Given the description of an element on the screen output the (x, y) to click on. 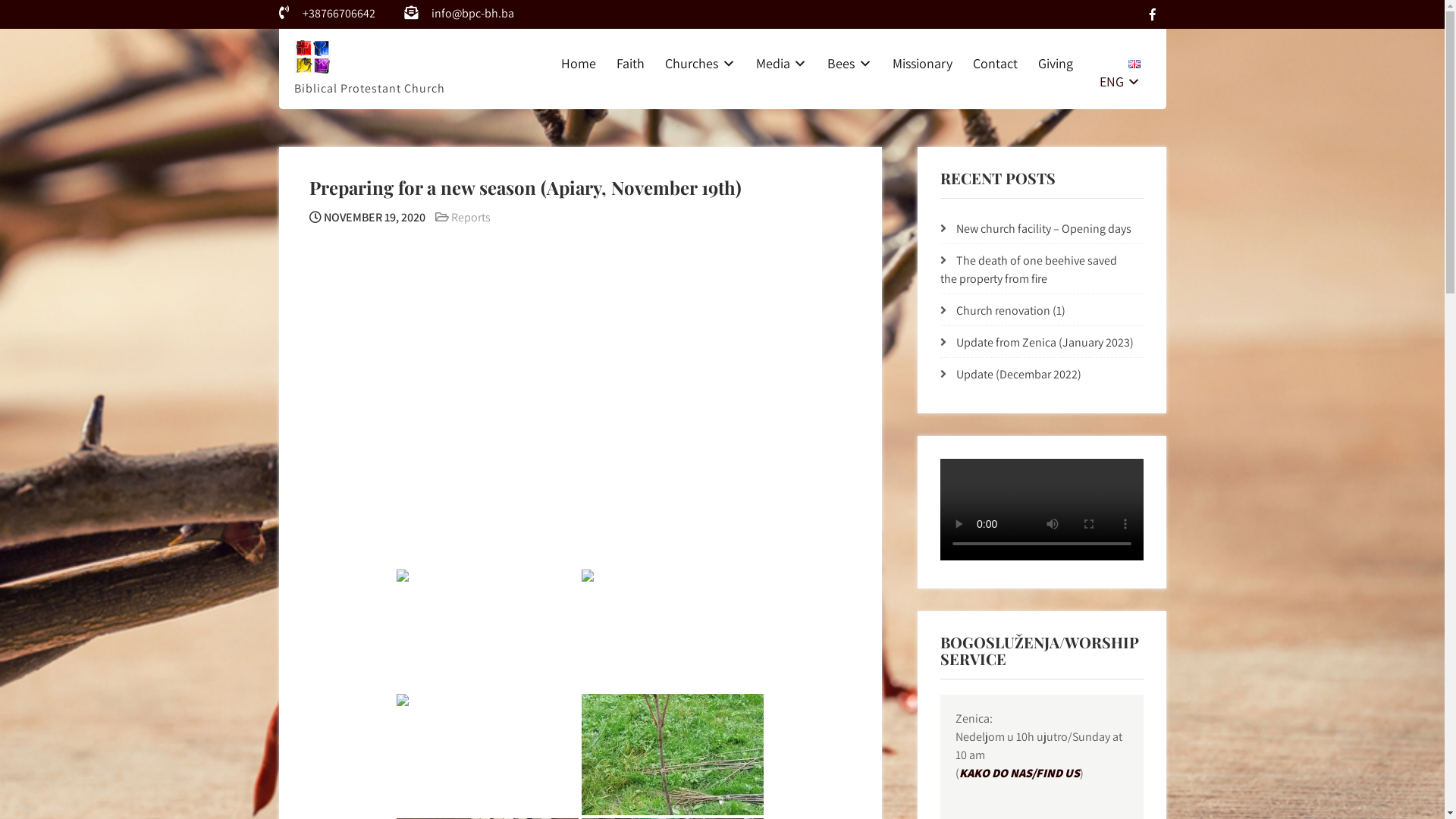
Missionary Element type: text (921, 62)
Media Element type: text (781, 62)
Churches Element type: text (700, 62)
The death of one beehive saved the property from fire Element type: text (1028, 269)
ENG Element type: text (1116, 71)
Update from Zenica (January 2023) Element type: text (1044, 342)
Church renovation (1) Element type: text (1010, 310)
Contact Element type: text (994, 62)
KAKO DO NAS/FIND US Element type: text (1019, 773)
Apiary (November 19th 2020) Element type: hover (567, 386)
info@bpc-bh.ba Element type: text (472, 13)
Facebook Element type: hover (1151, 14)
Home Element type: text (577, 62)
Update (Decembar 2022) Element type: text (1018, 374)
1e8307d6-f81b-4716-b8e2-3f913328885c Element type: hover (487, 629)
2edb2f69-c000-405b-a9db-ef541c52b3ae Element type: hover (672, 629)
9b426629-2a13-4fdd-9662-9fdd94ed9dc8 Element type: hover (487, 754)
Faith Element type: text (630, 62)
46f21947-94f2-4746-827b-9376be1c4289 Element type: hover (672, 754)
Bees Element type: text (849, 62)
Reports Element type: text (469, 217)
Giving Element type: text (1054, 62)
